Given the description of an element on the screen output the (x, y) to click on. 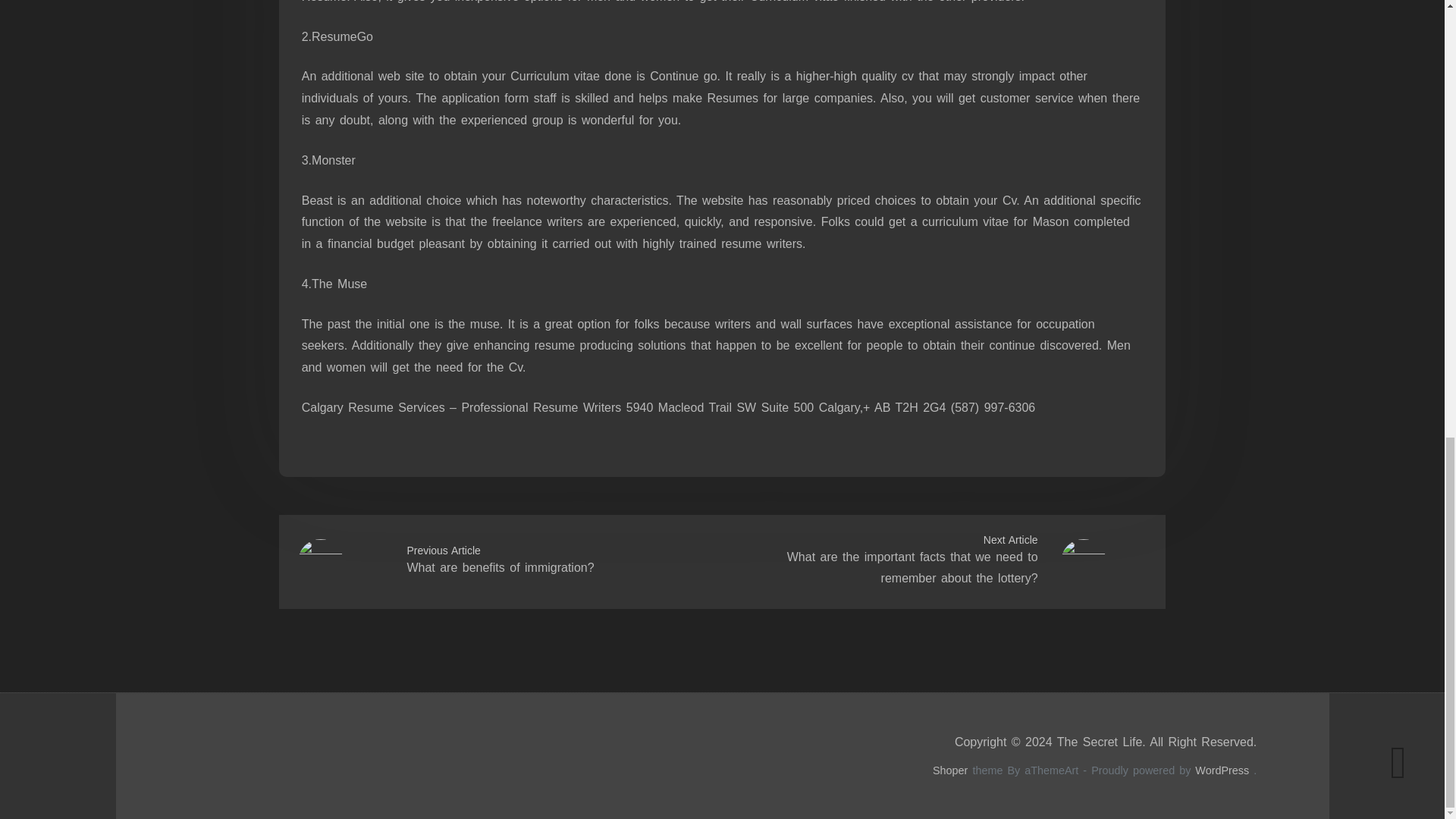
Shoper (950, 770)
What are benefits of immigration? (500, 567)
WordPress (1222, 770)
